Given the description of an element on the screen output the (x, y) to click on. 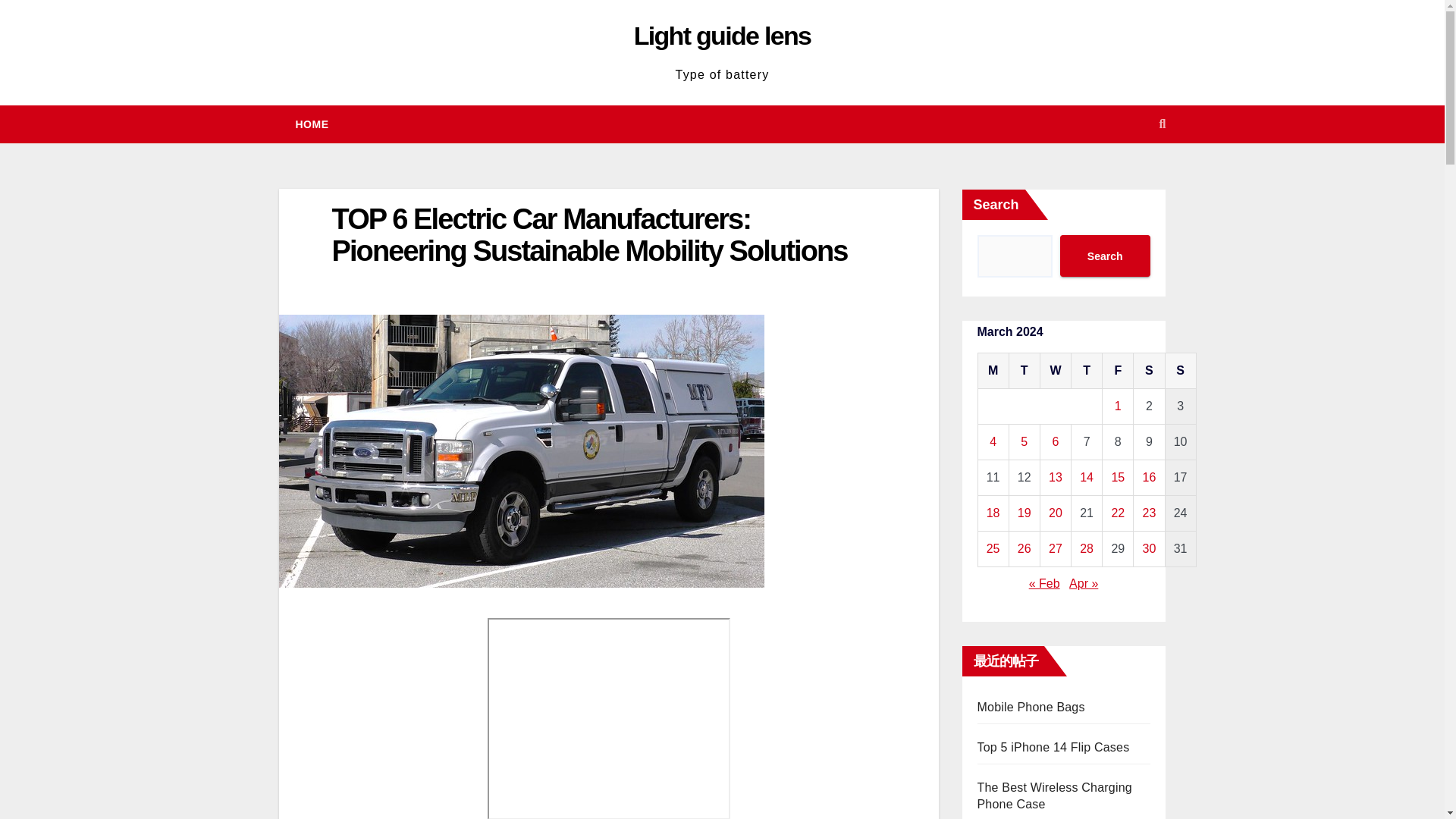
4 (992, 440)
Tuesday (1024, 370)
Home (312, 124)
HOME (312, 124)
16 (1149, 477)
18 (993, 512)
Thursday (1086, 370)
Monday (992, 370)
Wednesday (1054, 370)
5 (1023, 440)
13 (1055, 477)
6 (1054, 440)
Friday (1118, 370)
